Given the description of an element on the screen output the (x, y) to click on. 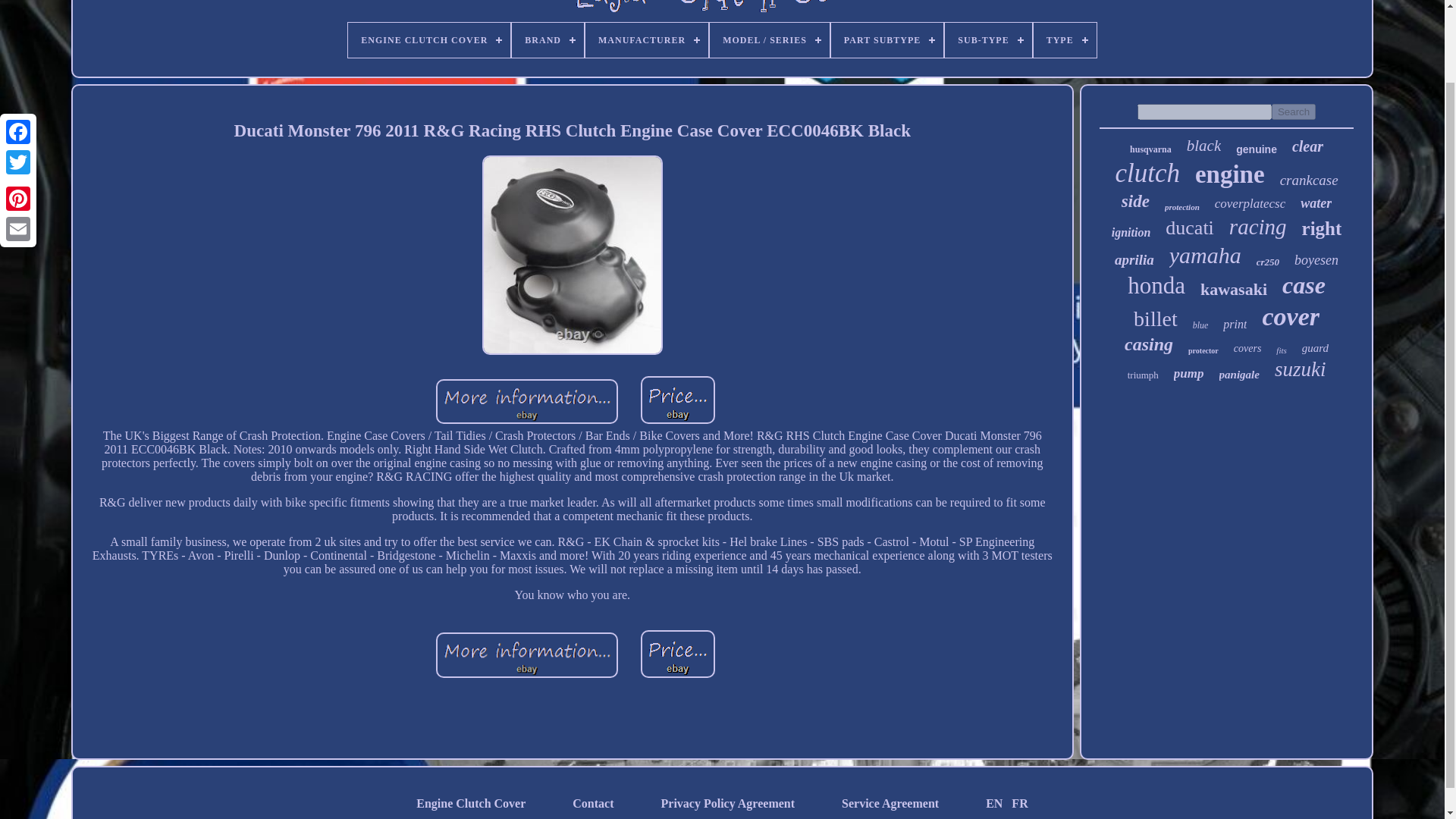
Search (1293, 111)
MANUFACTURER (646, 39)
ENGINE CLUTCH COVER (429, 39)
BRAND (547, 39)
